Given the description of an element on the screen output the (x, y) to click on. 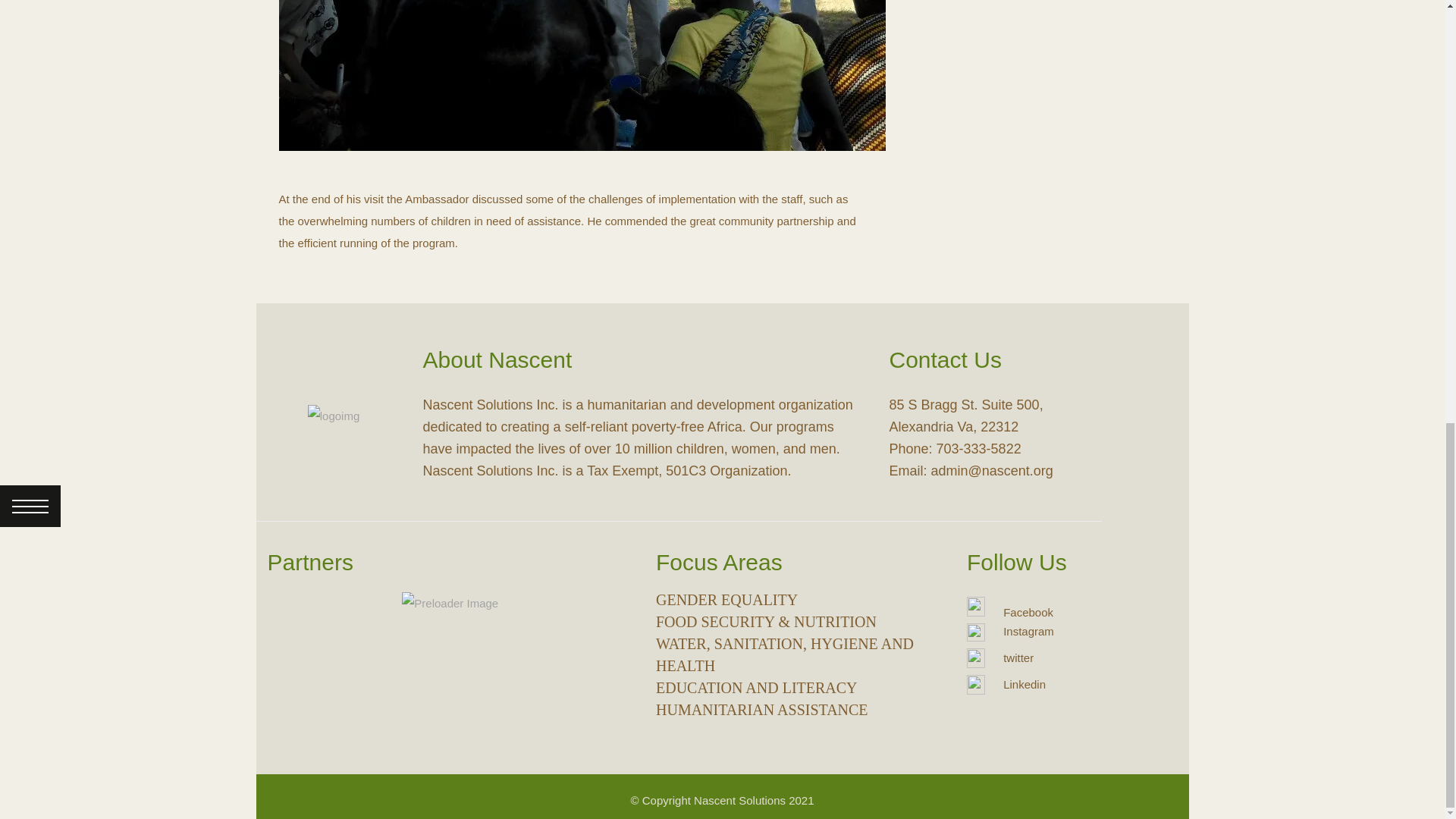
logoimg (333, 415)
